Given the description of an element on the screen output the (x, y) to click on. 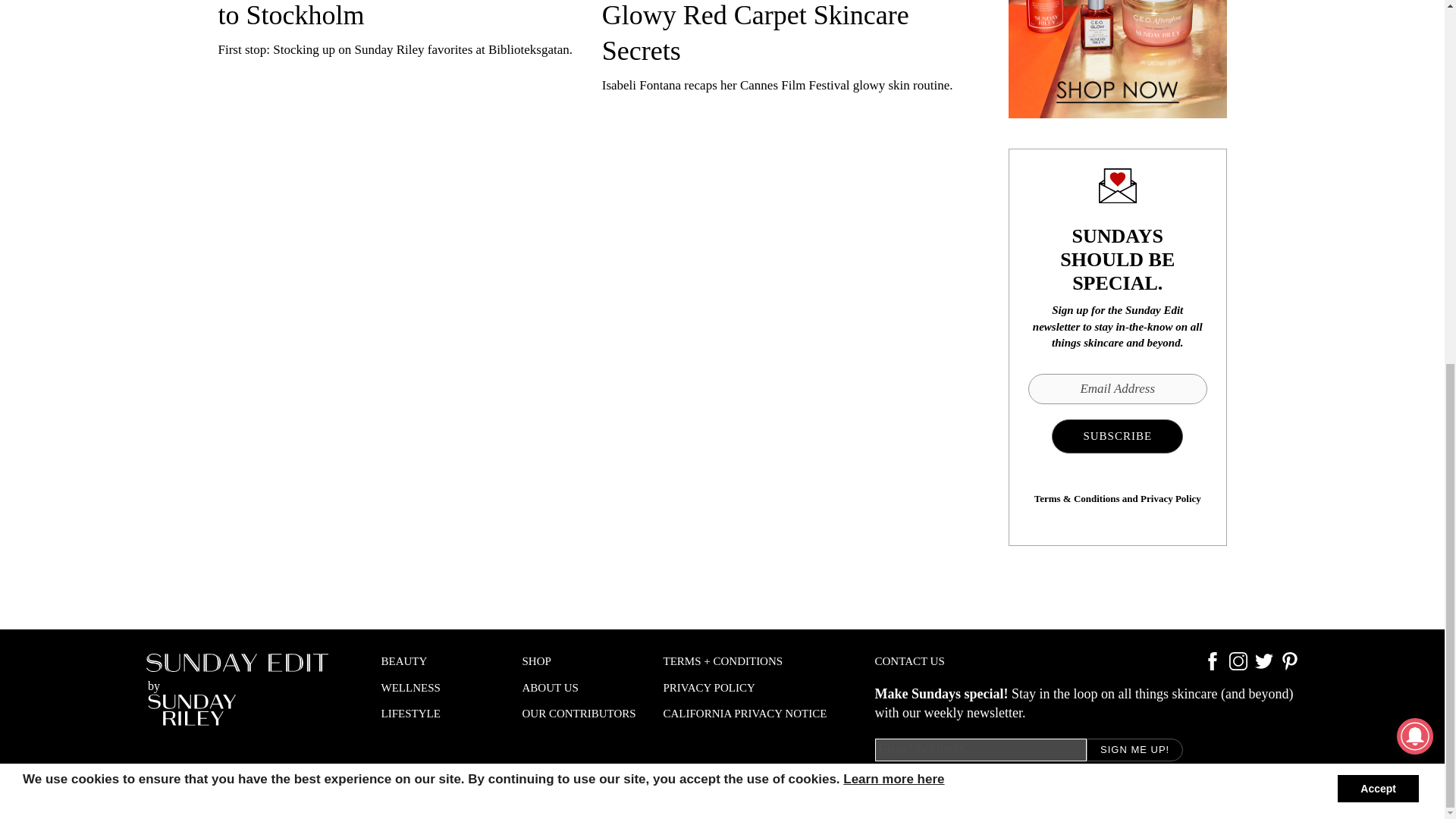
Twitter (1262, 666)
Pinterest (1288, 666)
Privacy Policy (1170, 498)
SUBSCRIBE (1116, 436)
Facebook (1212, 666)
Instagram (1237, 666)
Morning Buzz (1118, 58)
by (236, 689)
